Given the description of an element on the screen output the (x, y) to click on. 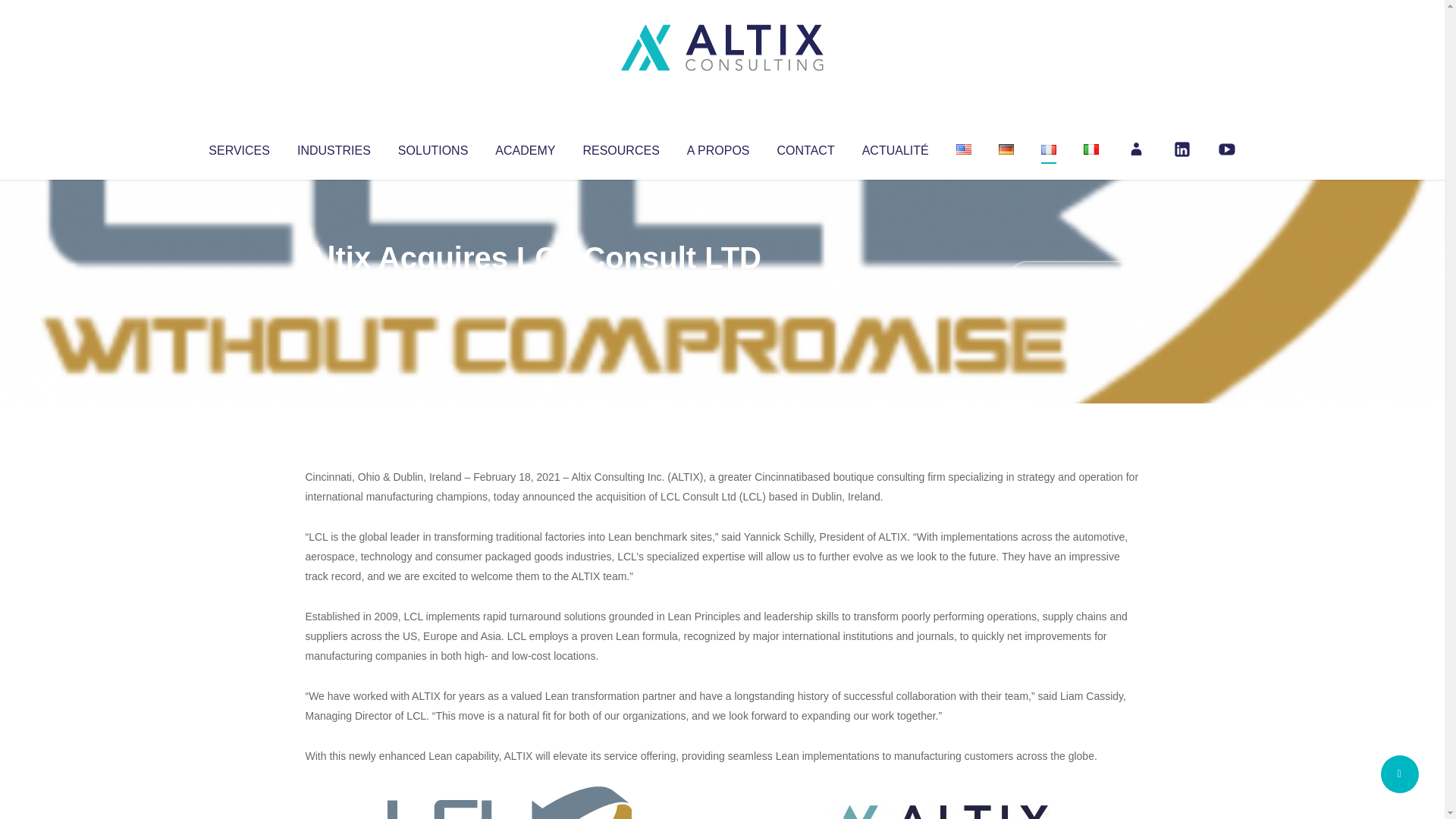
A PROPOS (718, 146)
Altix (333, 287)
Articles par Altix (333, 287)
No Comments (1073, 278)
ACADEMY (524, 146)
SOLUTIONS (432, 146)
RESOURCES (620, 146)
Uncategorized (530, 287)
INDUSTRIES (334, 146)
SERVICES (238, 146)
